Given the description of an element on the screen output the (x, y) to click on. 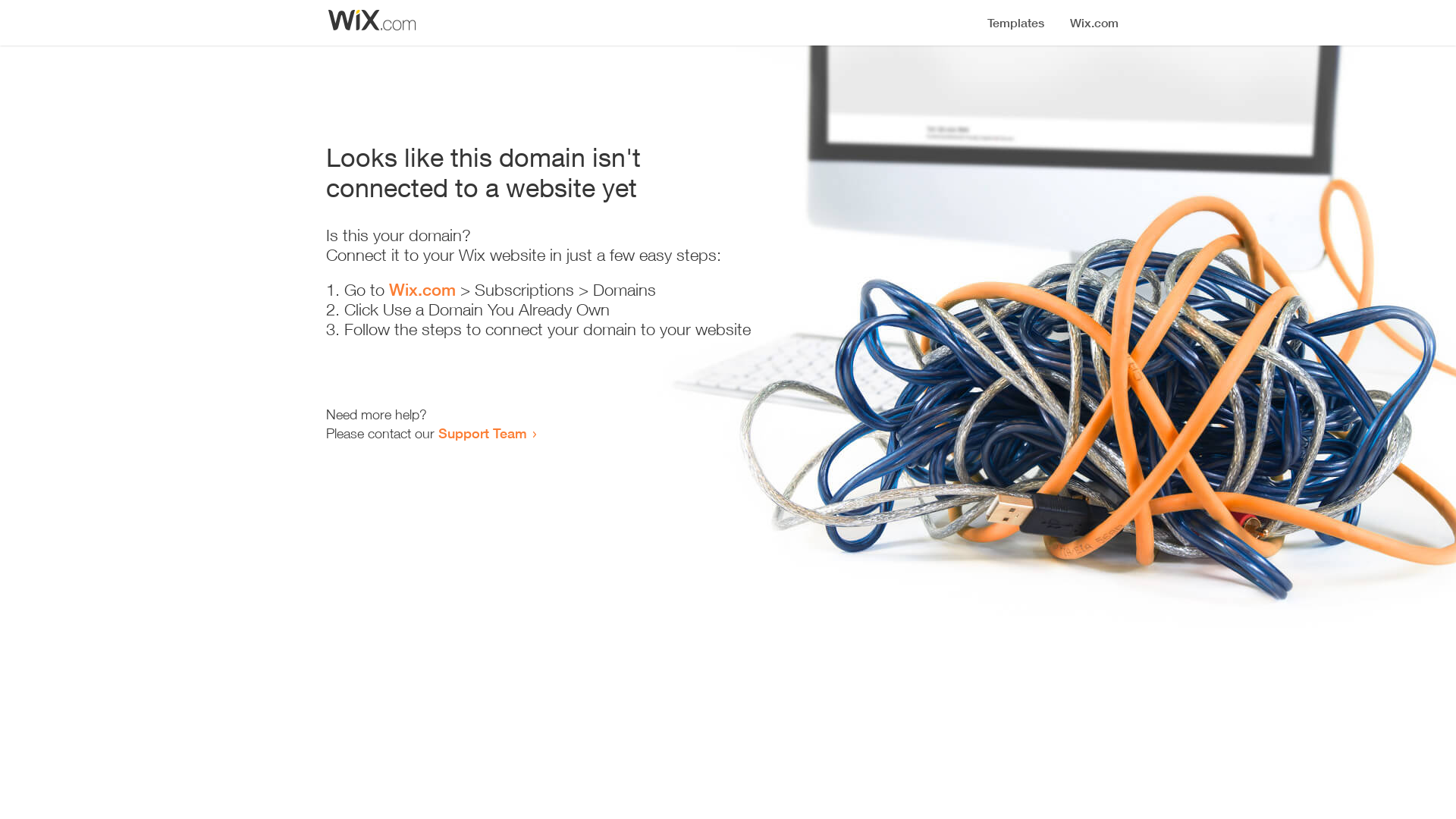
Wix.com Element type: text (422, 289)
Support Team Element type: text (482, 432)
